Given the description of an element on the screen output the (x, y) to click on. 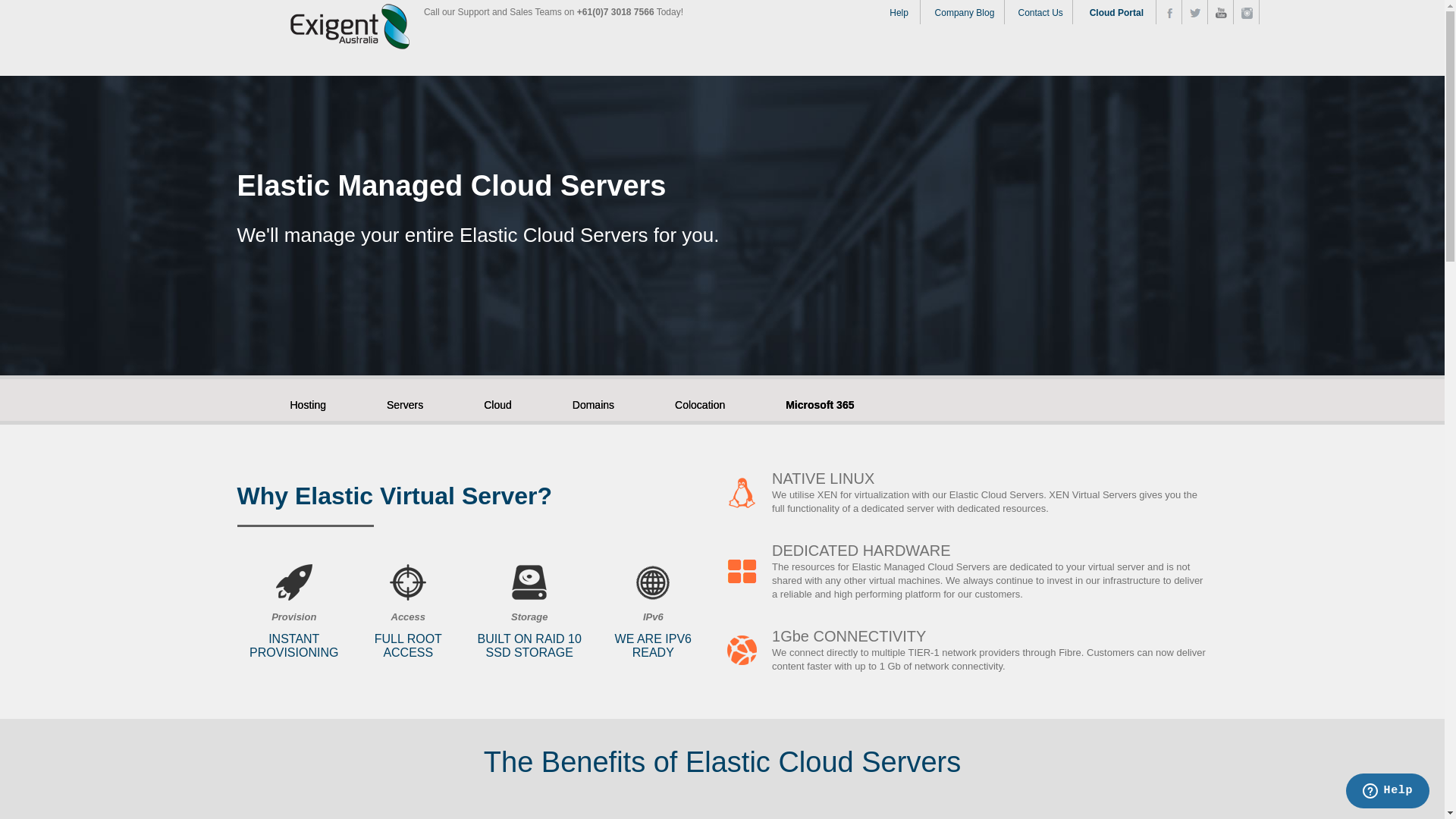
Cloud Portal Element type: text (1116, 11)
Opens a widget where you can chat to one of our agents Element type: hover (1387, 792)
Domains Element type: text (608, 403)
Colocation Element type: text (714, 403)
Help Element type: text (898, 11)
Microsoft 365 Element type: text (819, 403)
+61(0)7 3018 7566 Element type: text (615, 11)
Facebook Element type: hover (1169, 12)
Instagram Element type: hover (1246, 12)
Twitter Element type: hover (1194, 12)
Exigent Australia Element type: hover (349, 26)
YouTube Element type: hover (1220, 12)
Hosting Element type: text (322, 403)
Company Blog Element type: text (964, 11)
Cloud Element type: text (512, 403)
Contact Us Element type: text (1039, 11)
Servers Element type: text (420, 403)
